Given the description of an element on the screen output the (x, y) to click on. 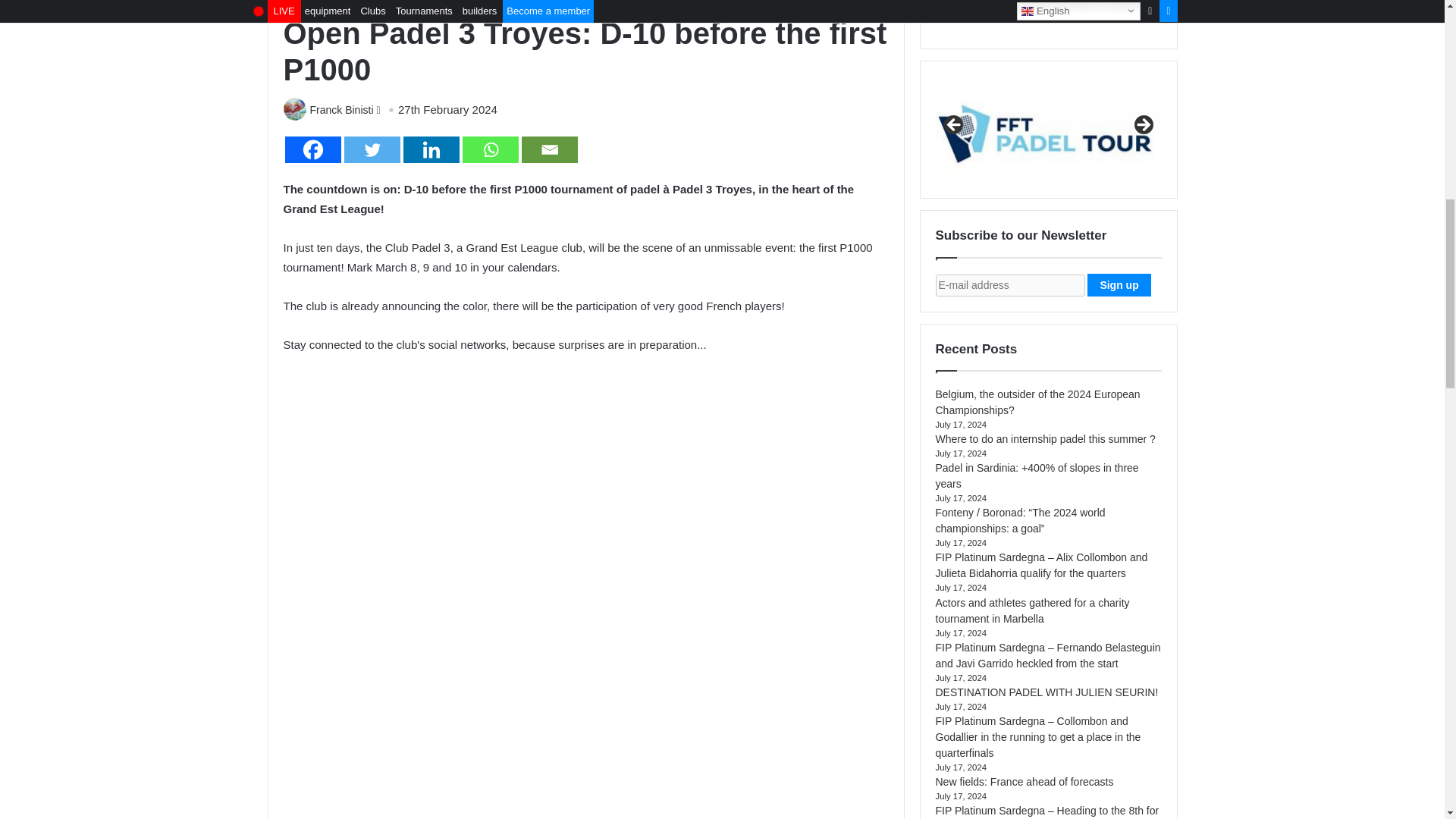
Sign up (1118, 284)
